Given the description of an element on the screen output the (x, y) to click on. 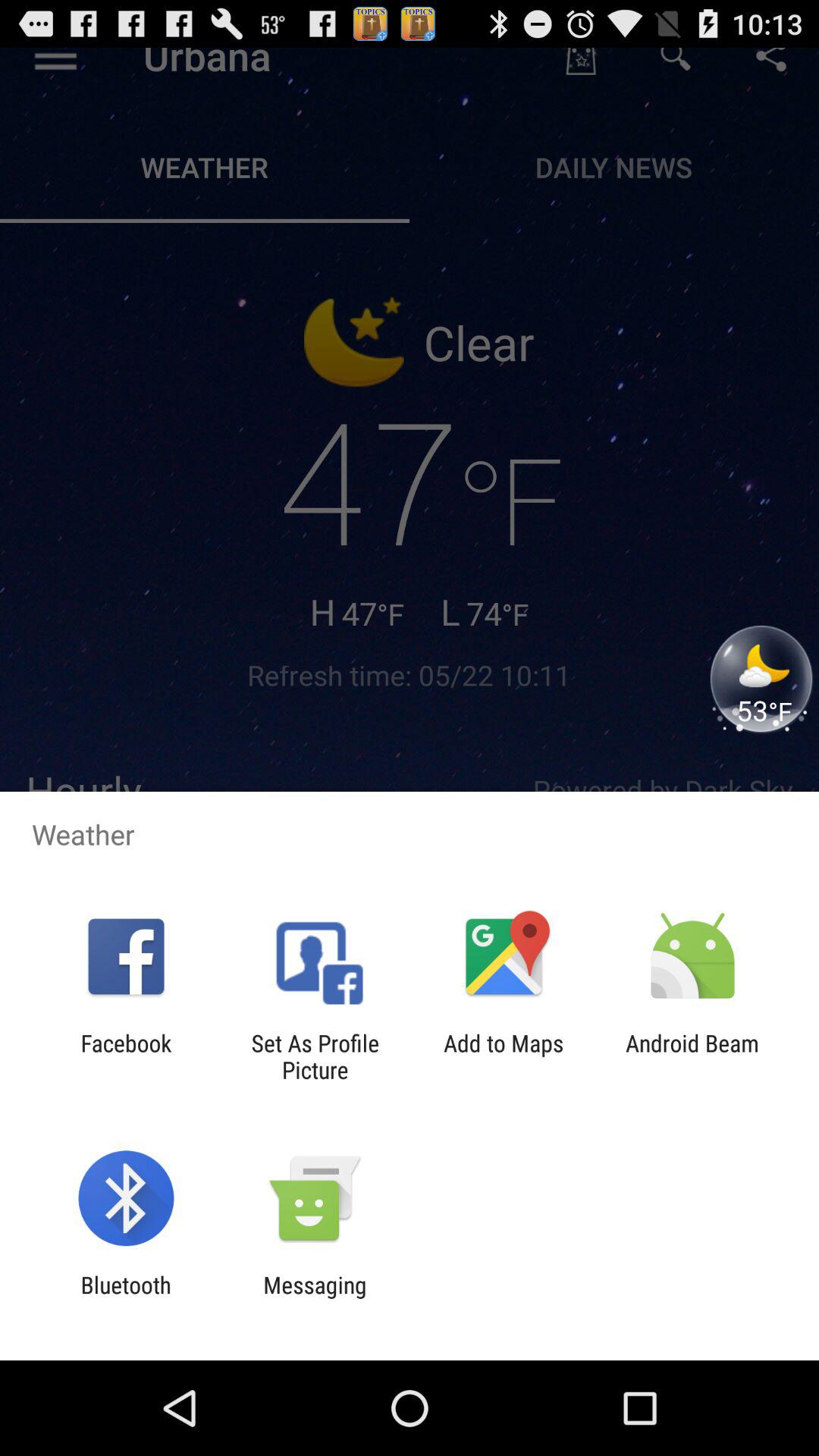
swipe until the messaging (314, 1298)
